Given the description of an element on the screen output the (x, y) to click on. 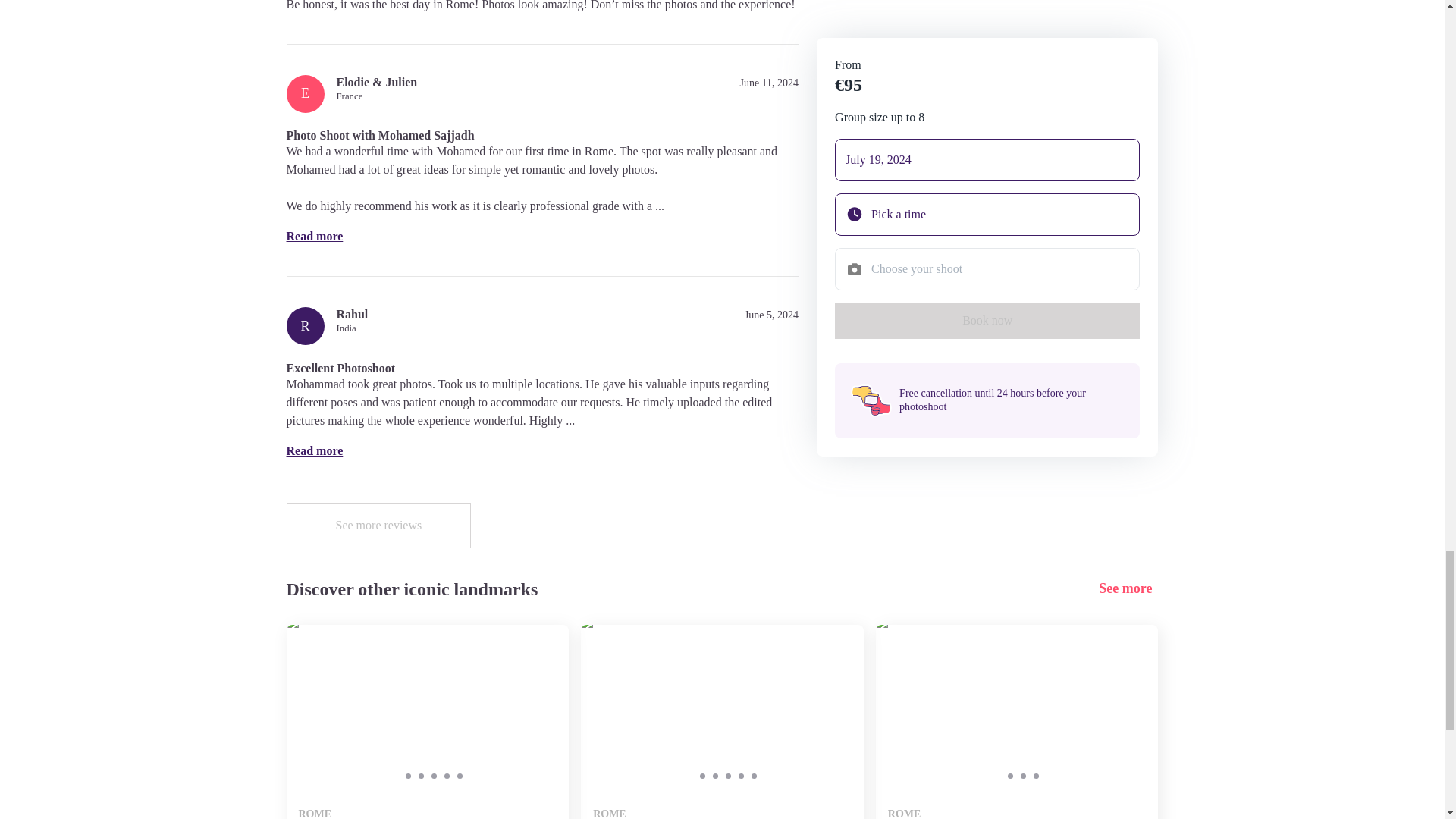
See more (1128, 589)
Rome (1017, 721)
Rome (427, 721)
Rome (721, 721)
See more reviews (378, 524)
